Given the description of an element on the screen output the (x, y) to click on. 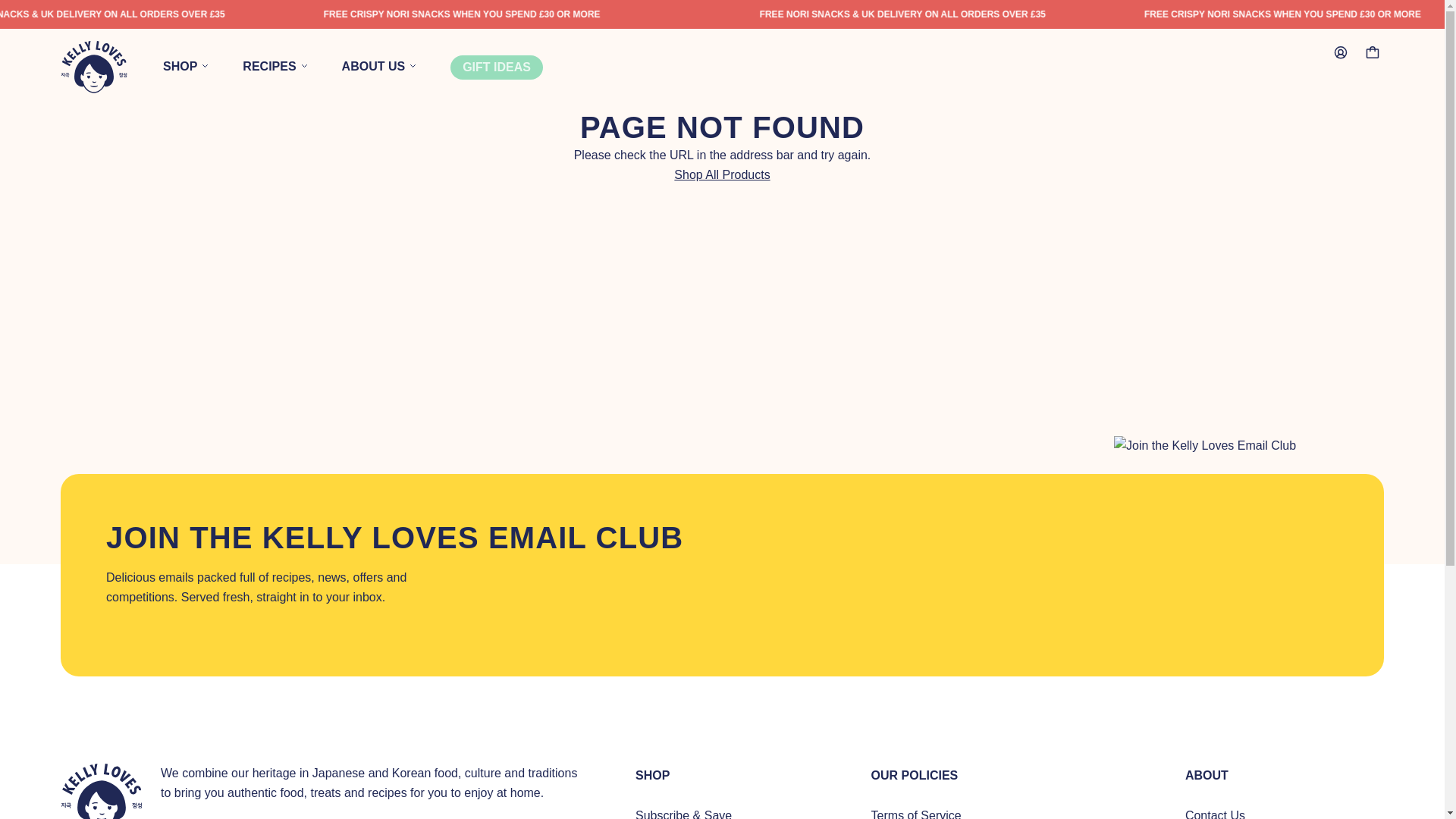
SHOP (203, 66)
Kelly Loves Logo (101, 791)
Your Bag (1372, 51)
Sign in (1340, 51)
Kelly Loves Logo (94, 66)
